Given the description of an element on the screen output the (x, y) to click on. 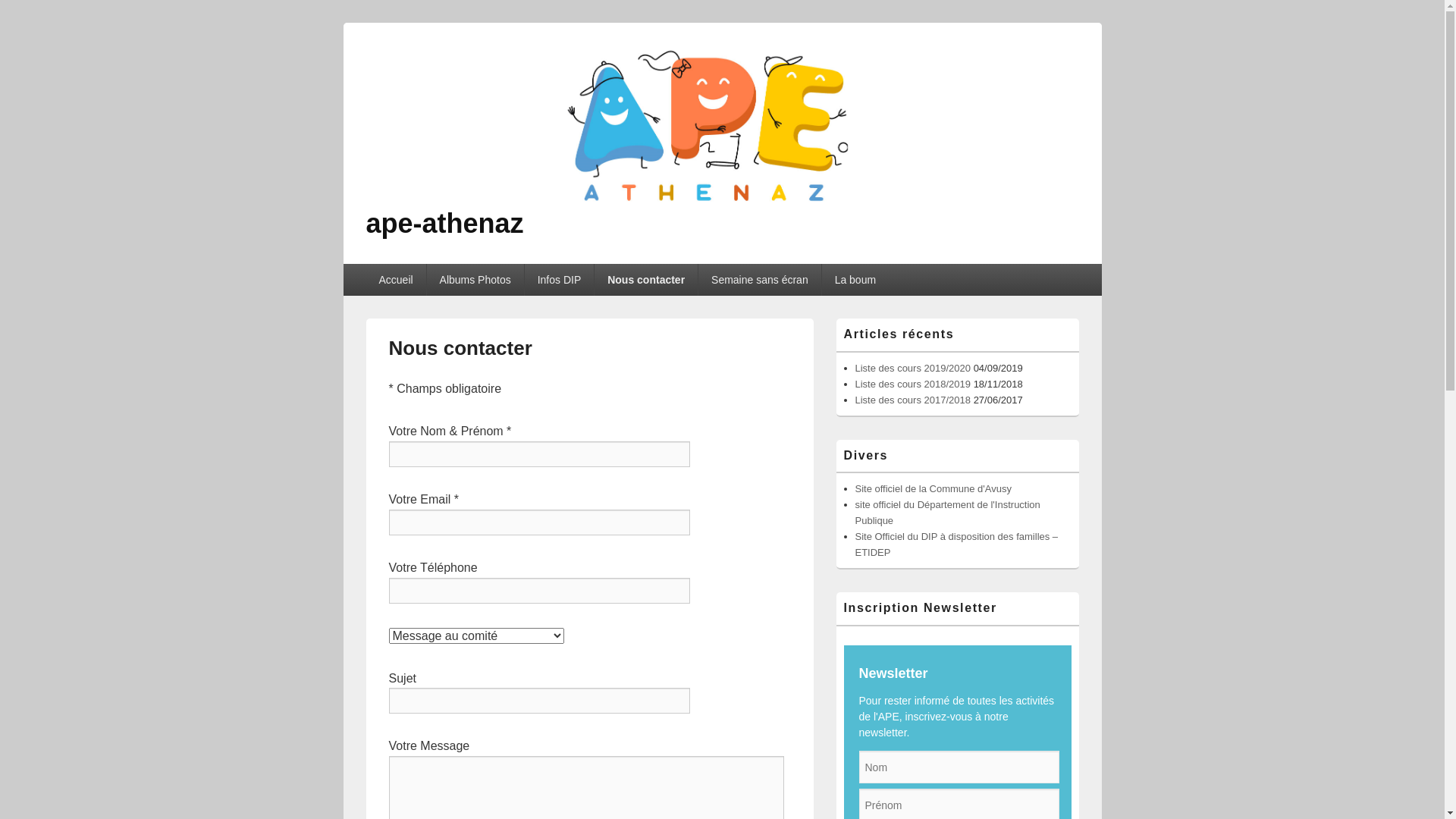
Nous contacter Element type: text (645, 279)
Liste des cours 2017/2018 Element type: text (913, 399)
Liste des cours 2019/2020 Element type: text (913, 367)
ape-athenaz Element type: text (444, 222)
Accueil Element type: text (395, 279)
Infos DIP Element type: text (559, 279)
Albums Photos Element type: text (475, 279)
Site officiel de la Commune d'Avusy Element type: text (933, 488)
La boum Element type: text (855, 279)
Liste des cours 2018/2019 Element type: text (913, 383)
